Given the description of an element on the screen output the (x, y) to click on. 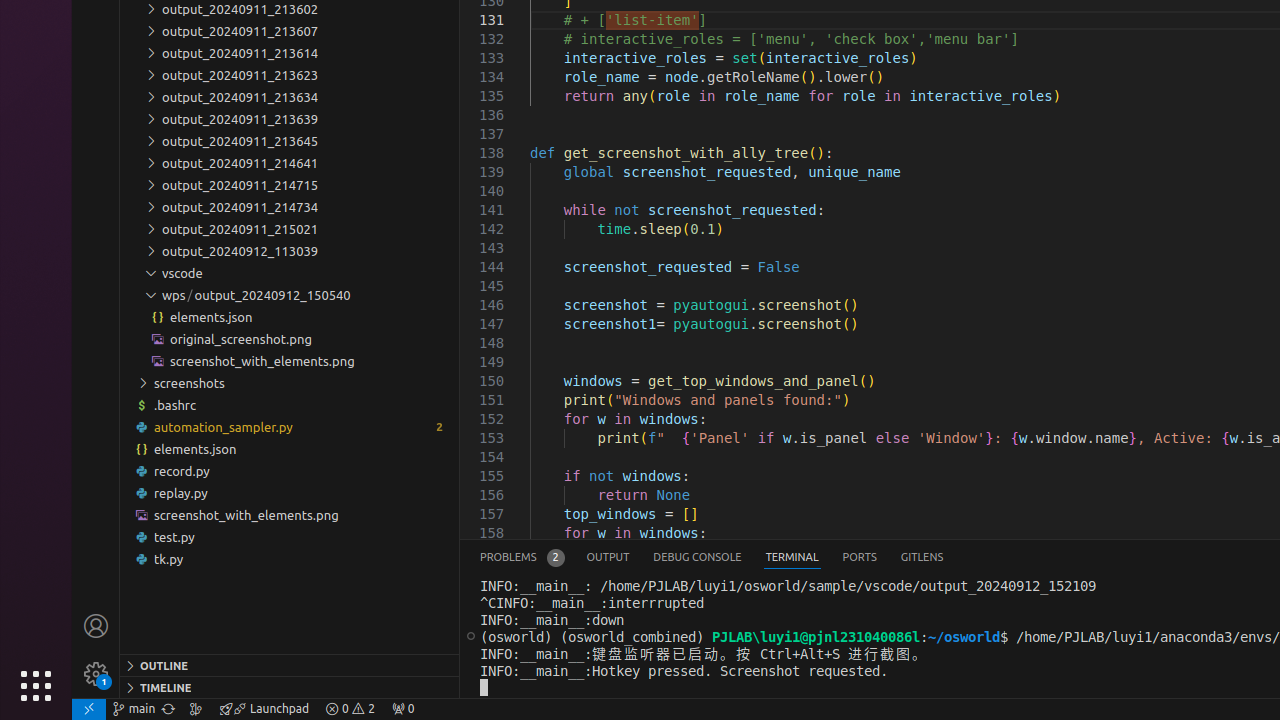
Output (Ctrl+K Ctrl+H) Element type: page-tab (608, 557)
OSWorld (Git) - Synchronize Changes Element type: push-button (168, 709)
output_20240911_213639 Element type: tree-item (289, 119)
Manage - New Code update available. Element type: push-button (96, 674)
